Given the description of an element on the screen output the (x, y) to click on. 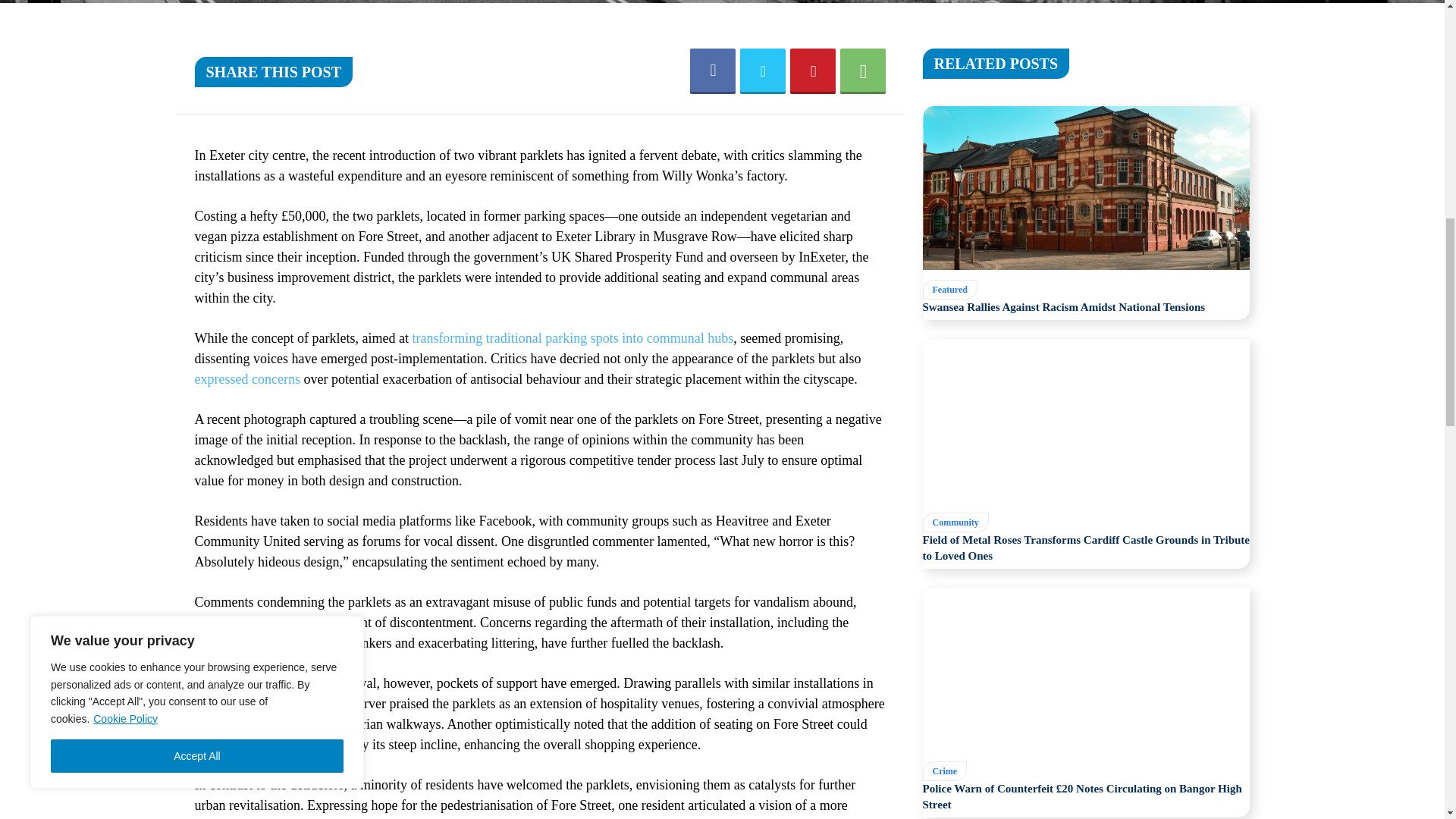
Twitter (762, 71)
Swansea Rallies Against Racism Amidst National Tensions (1063, 306)
Facebook (712, 71)
Swansea Rallies Against Racism Amidst National Tensions (1085, 188)
Pinterest (812, 71)
WhatsApp (862, 71)
